Given the description of an element on the screen output the (x, y) to click on. 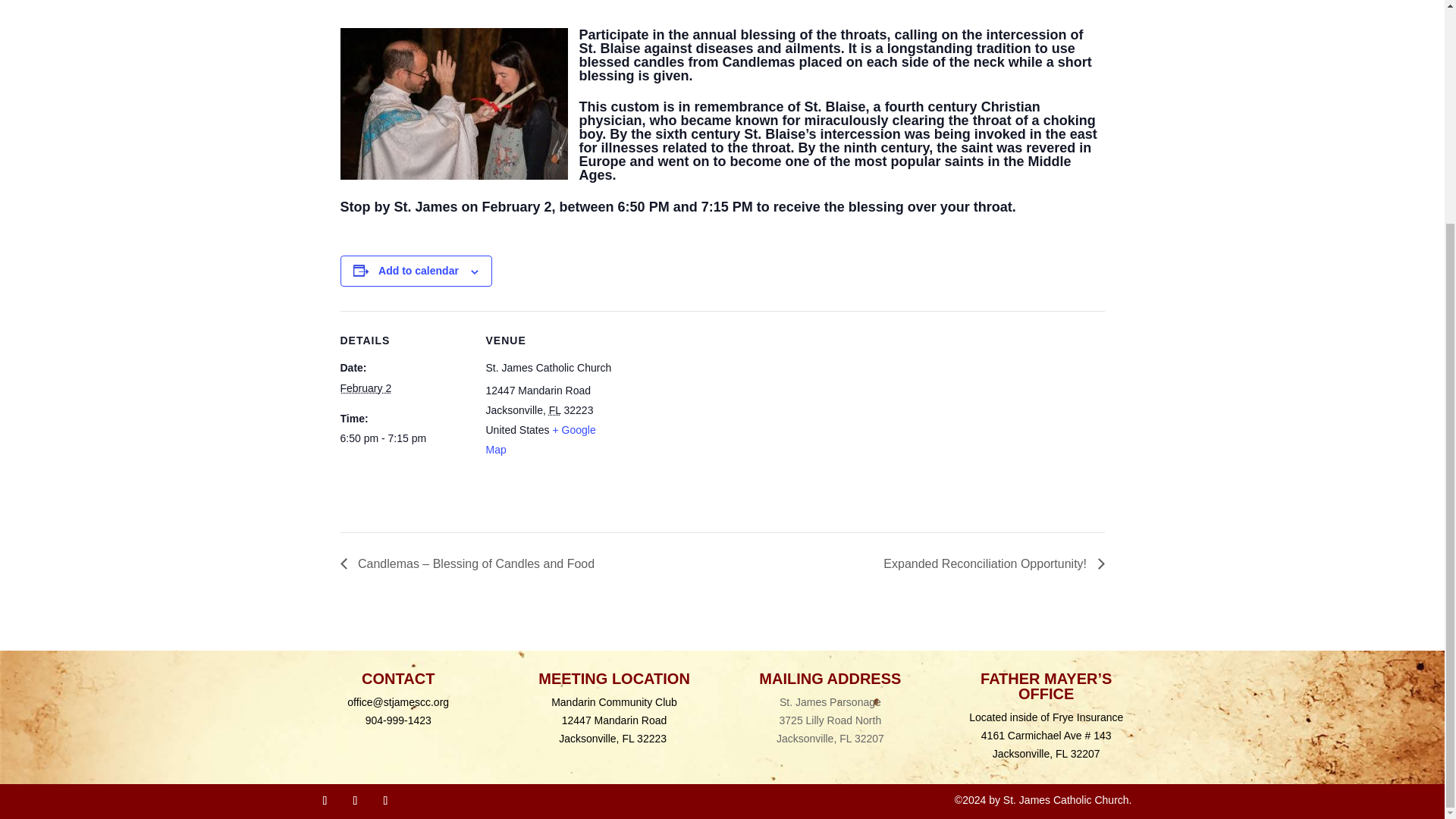
2024-02-02 (365, 387)
Follow on Facebook (324, 800)
Follow on Instagram (384, 800)
Click to view a Google Map (539, 439)
2024-02-02 (403, 438)
Follow on Youtube (354, 800)
Florida (554, 410)
